Given the description of an element on the screen output the (x, y) to click on. 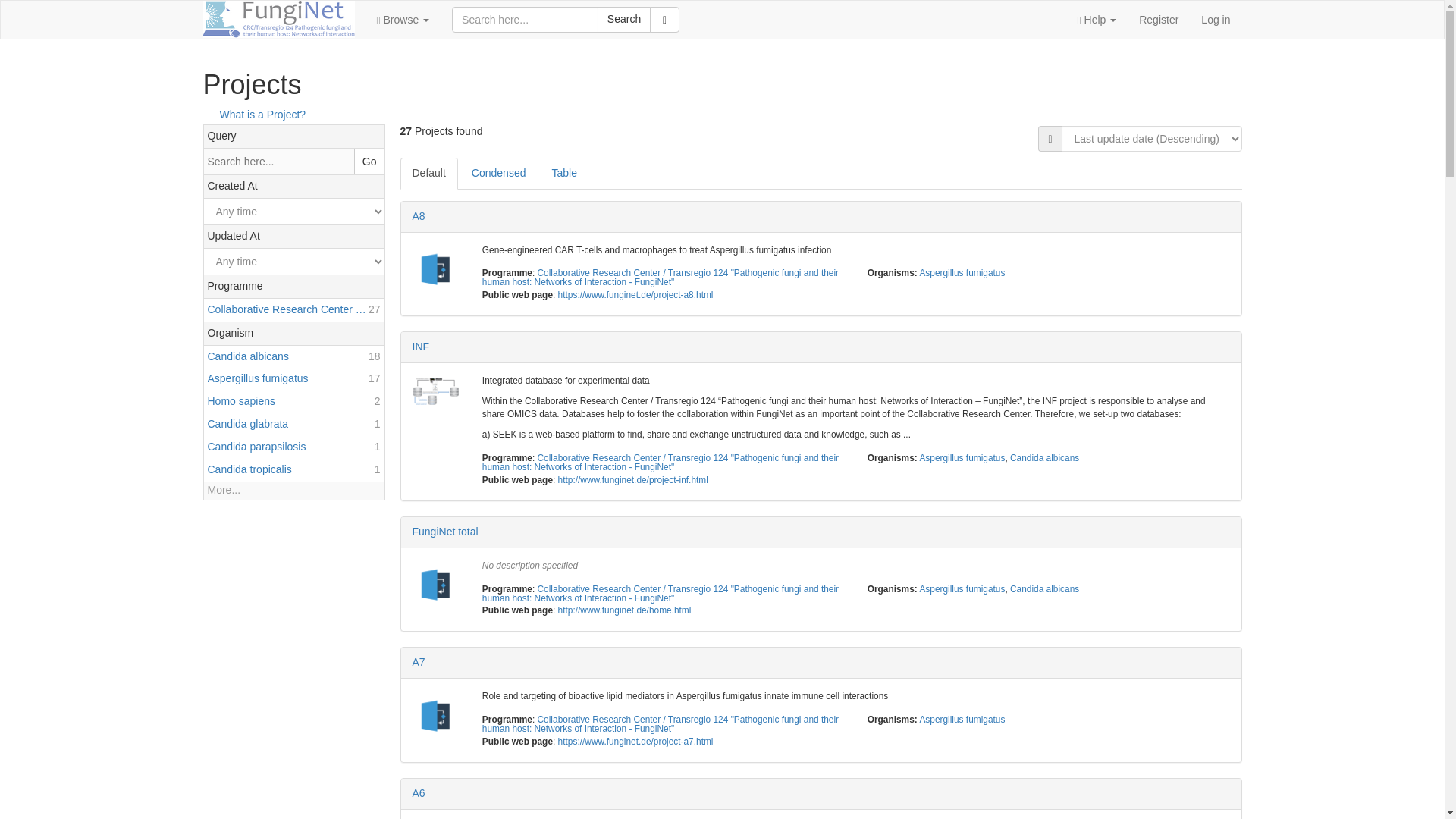
Search (623, 19)
What is a Project? (254, 114)
Homo sapiens (293, 401)
Candida glabrata (293, 424)
Help (293, 356)
Go (293, 424)
Aspergillus fumigatus (1096, 19)
